Given the description of an element on the screen output the (x, y) to click on. 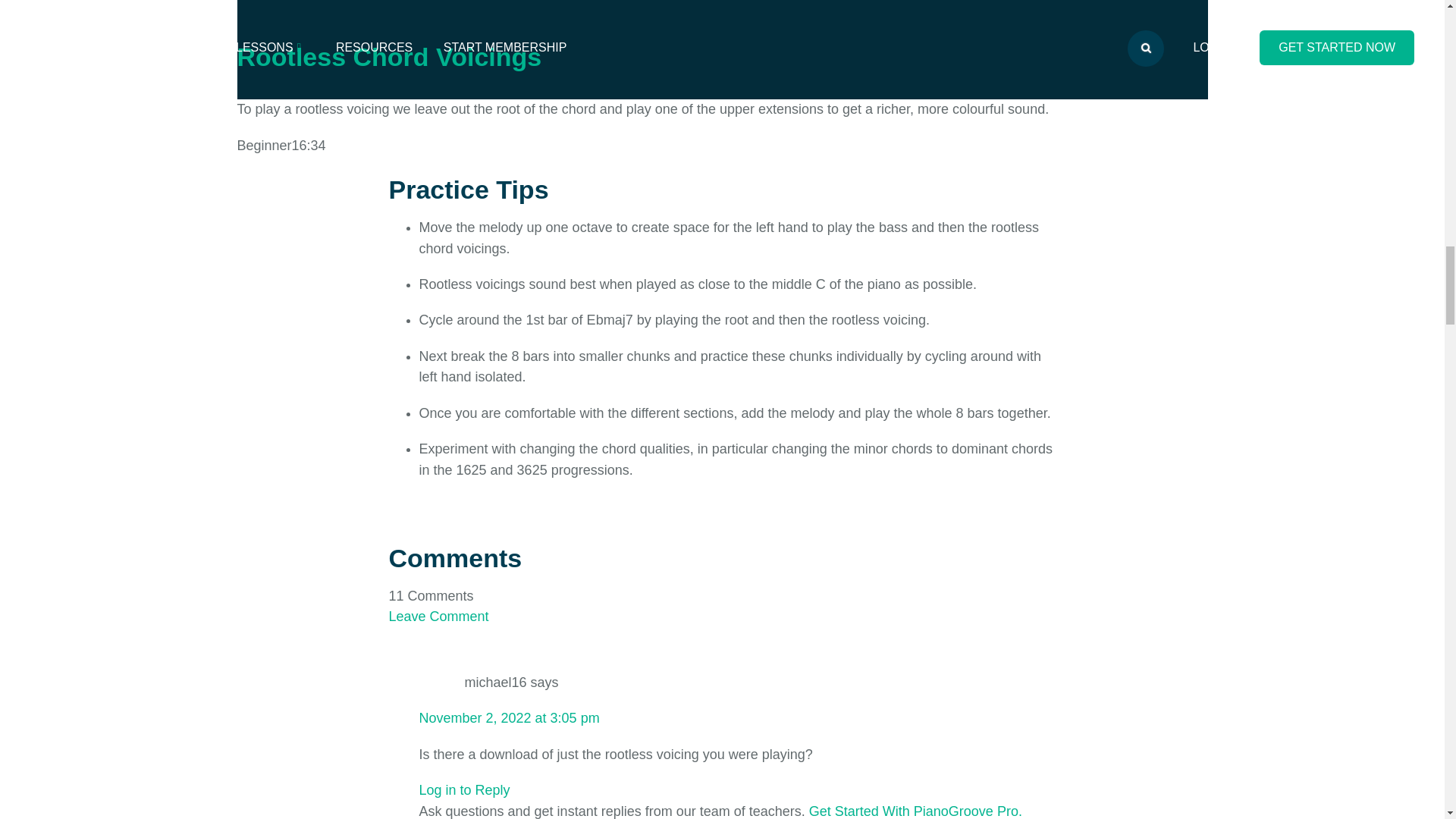
Leave Comment (437, 616)
November 2, 2022 at 3:05 pm (508, 717)
Rootless Chord Voicings (388, 56)
Get Started With PianoGroove Pro. (915, 811)
Log in to Reply (464, 789)
